Given the description of an element on the screen output the (x, y) to click on. 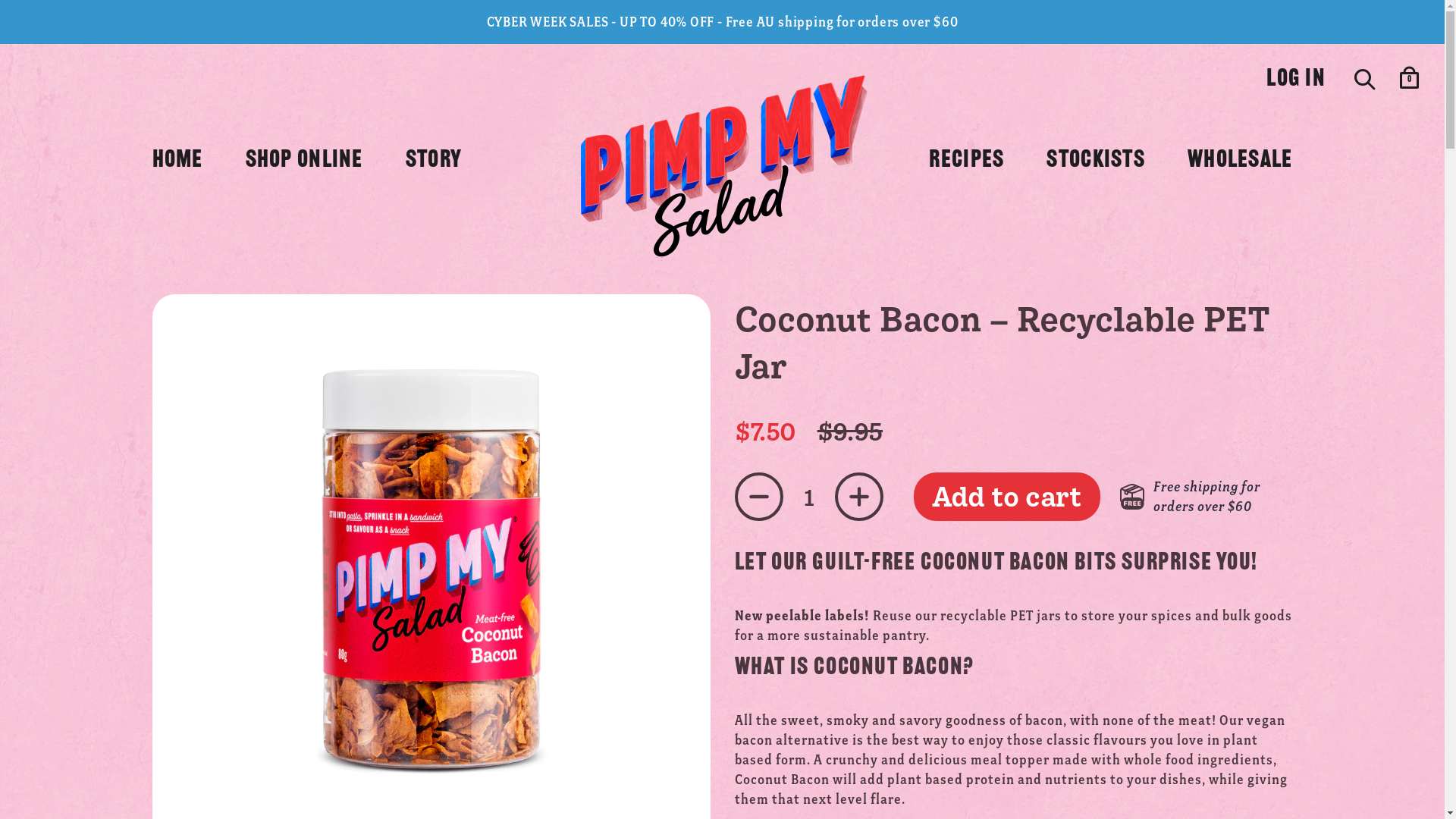
Home Element type: text (177, 160)
Story Element type: text (433, 160)
Log in Element type: text (1295, 79)
Shop Online Element type: text (304, 160)
Recipes Element type: text (966, 160)
Add to cart Element type: text (1006, 496)
0 Element type: text (1408, 79)
+ Element type: text (858, 496)
Stockists Element type: text (1095, 160)
Wholesale Element type: text (1239, 160)
